Given the description of an element on the screen output the (x, y) to click on. 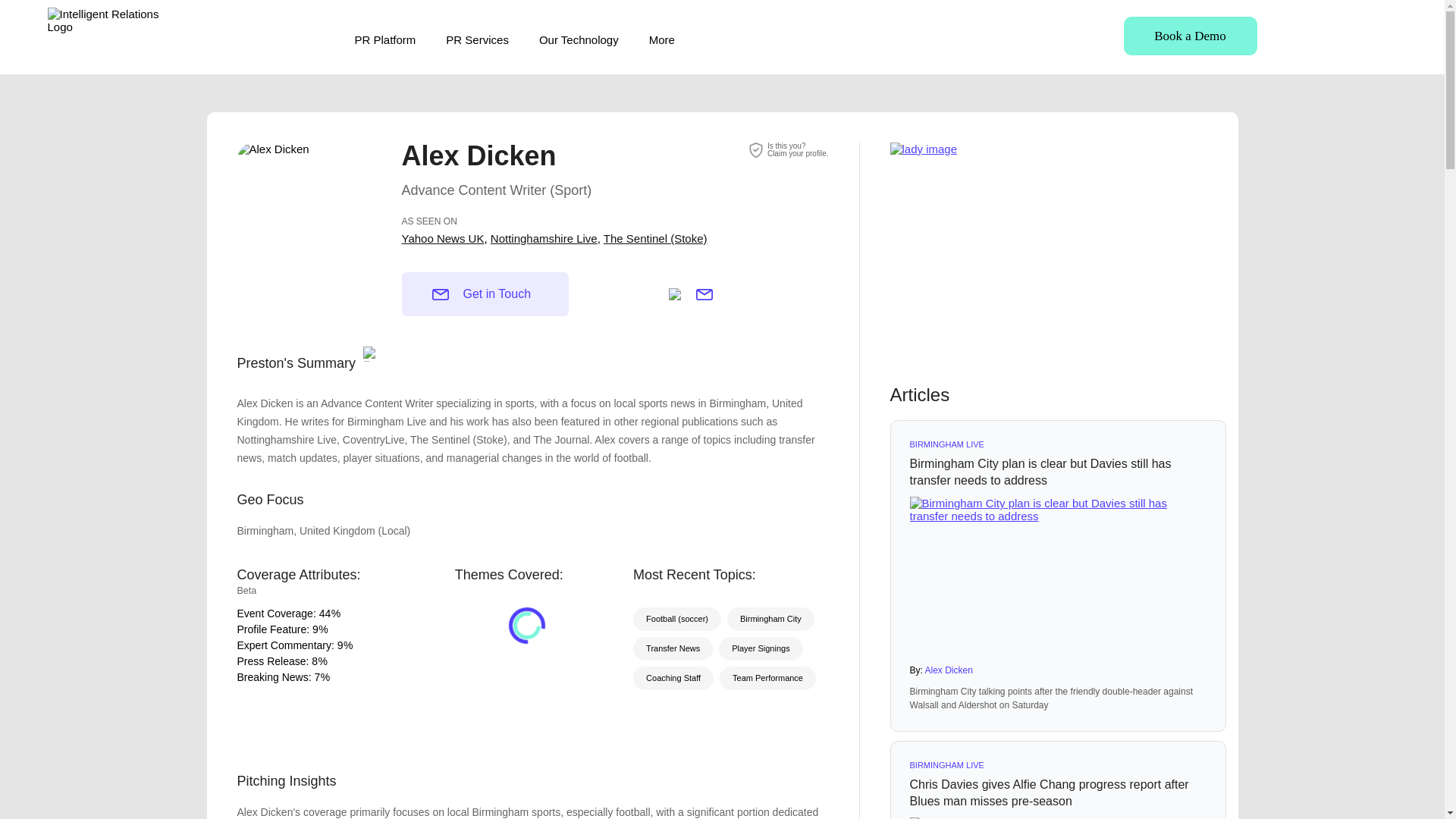
More (662, 39)
PR Services (476, 39)
Nottinghamshire Live (543, 237)
Get in Touch (485, 293)
Our Technology (797, 149)
44 (578, 39)
Book a Demo (324, 613)
PR Platform (1190, 35)
Yahoo News UK (385, 39)
